Given the description of an element on the screen output the (x, y) to click on. 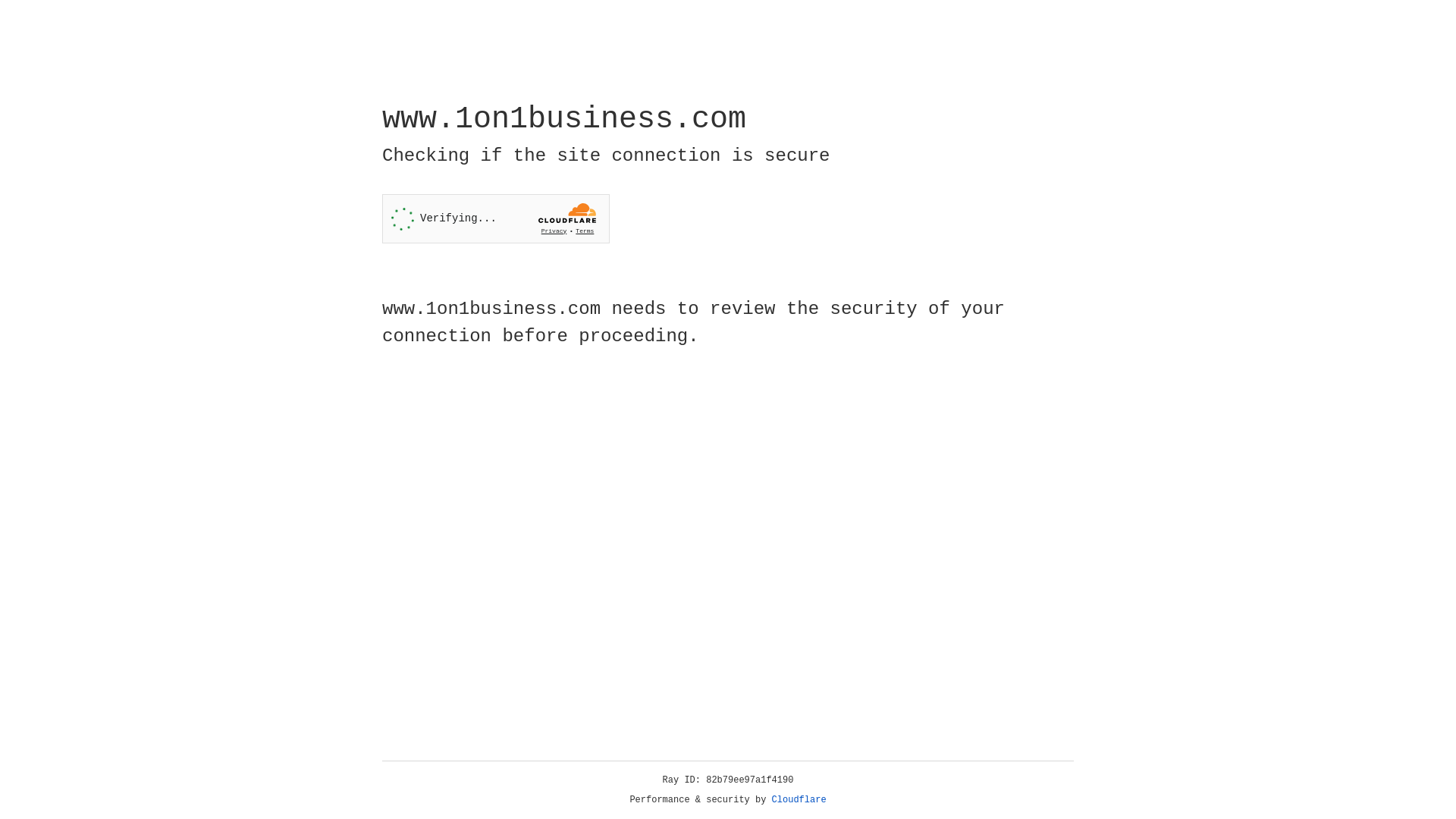
Widget containing a Cloudflare security challenge Element type: hover (495, 218)
Cloudflare Element type: text (798, 799)
